Given the description of an element on the screen output the (x, y) to click on. 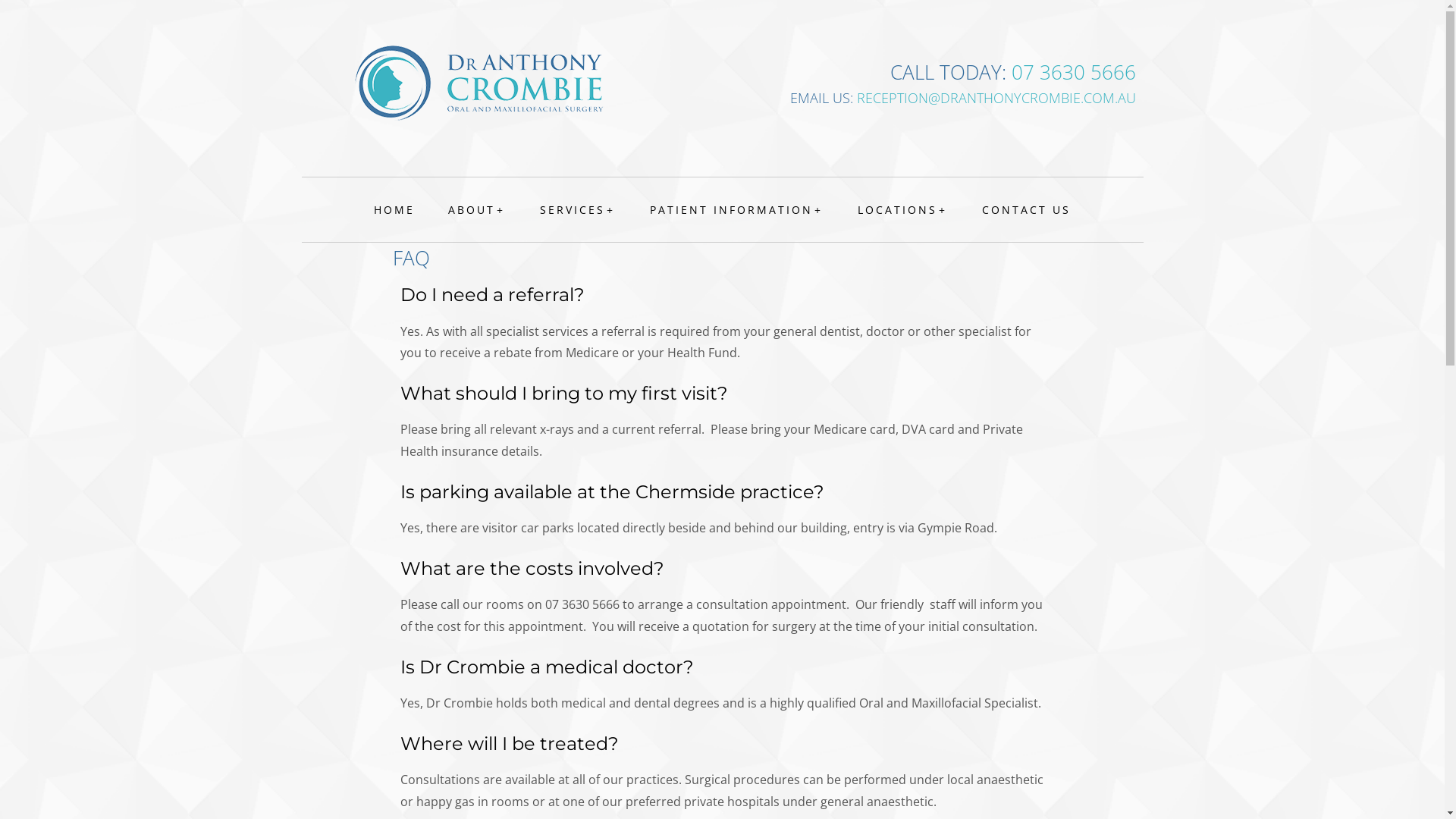
LOCATIONS Element type: text (902, 209)
SERVICES Element type: text (577, 209)
RECEPTION@DRANTHONYCROMBIE.COM.AU Element type: text (995, 97)
CONTACT US Element type: text (1026, 209)
HOME Element type: text (393, 209)
PATIENT INFORMATION Element type: text (736, 209)
ABOUT Element type: text (477, 209)
07 3630 5666 Element type: text (1073, 71)
